Given the description of an element on the screen output the (x, y) to click on. 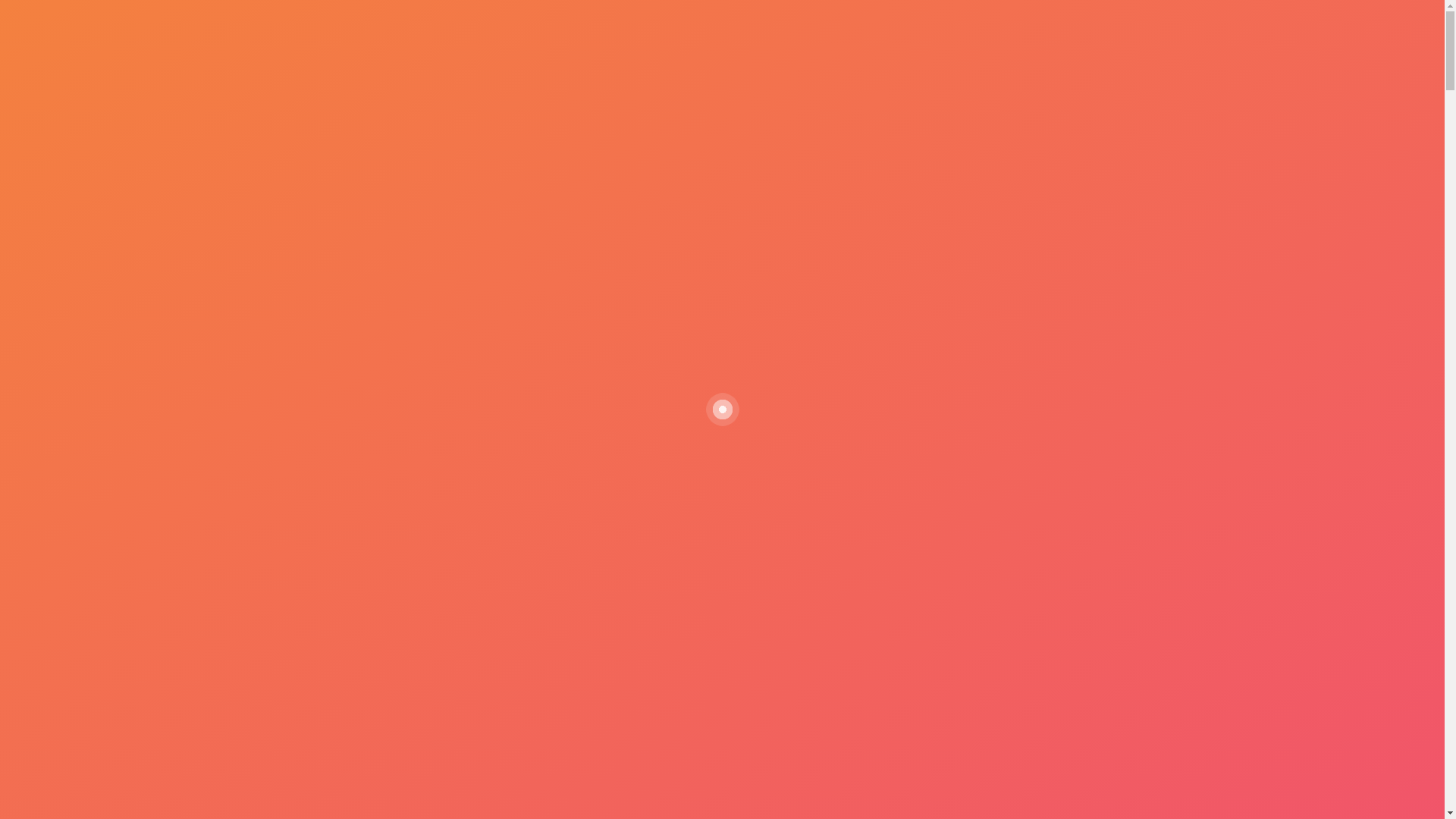
FRANCHISE Element type: text (783, 126)
ABOUT Element type: text (416, 126)
GET STARTED TODAY Element type: text (81, 542)
REGISTER NOW Element type: text (998, 126)
PRESS RELEASE Element type: text (884, 126)
WHY CHOOSE MUDBOTS Element type: text (532, 126)
HOME Element type: text (349, 126)
USES & BENEFITS Element type: text (675, 126)
